Given the description of an element on the screen output the (x, y) to click on. 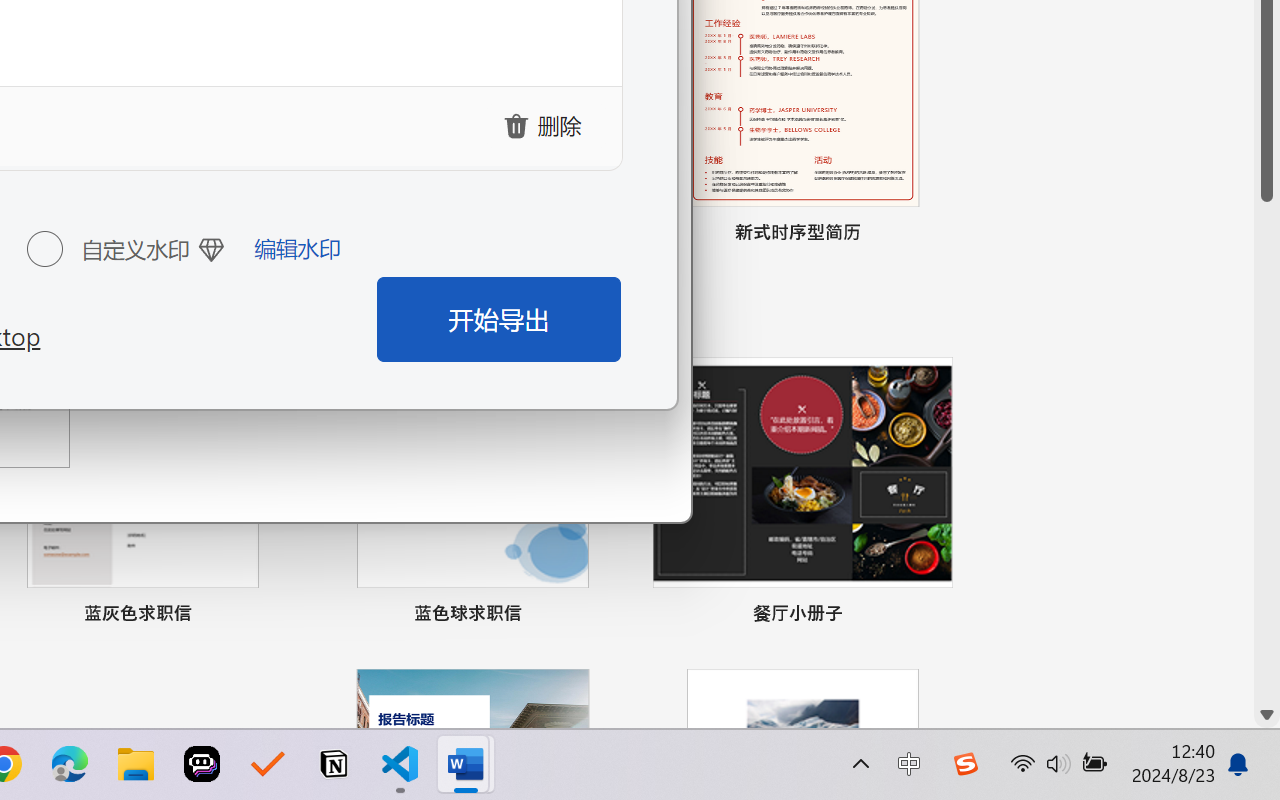
Microsoft Edge (69, 764)
clearAllFile (545, 125)
